Given the description of an element on the screen output the (x, y) to click on. 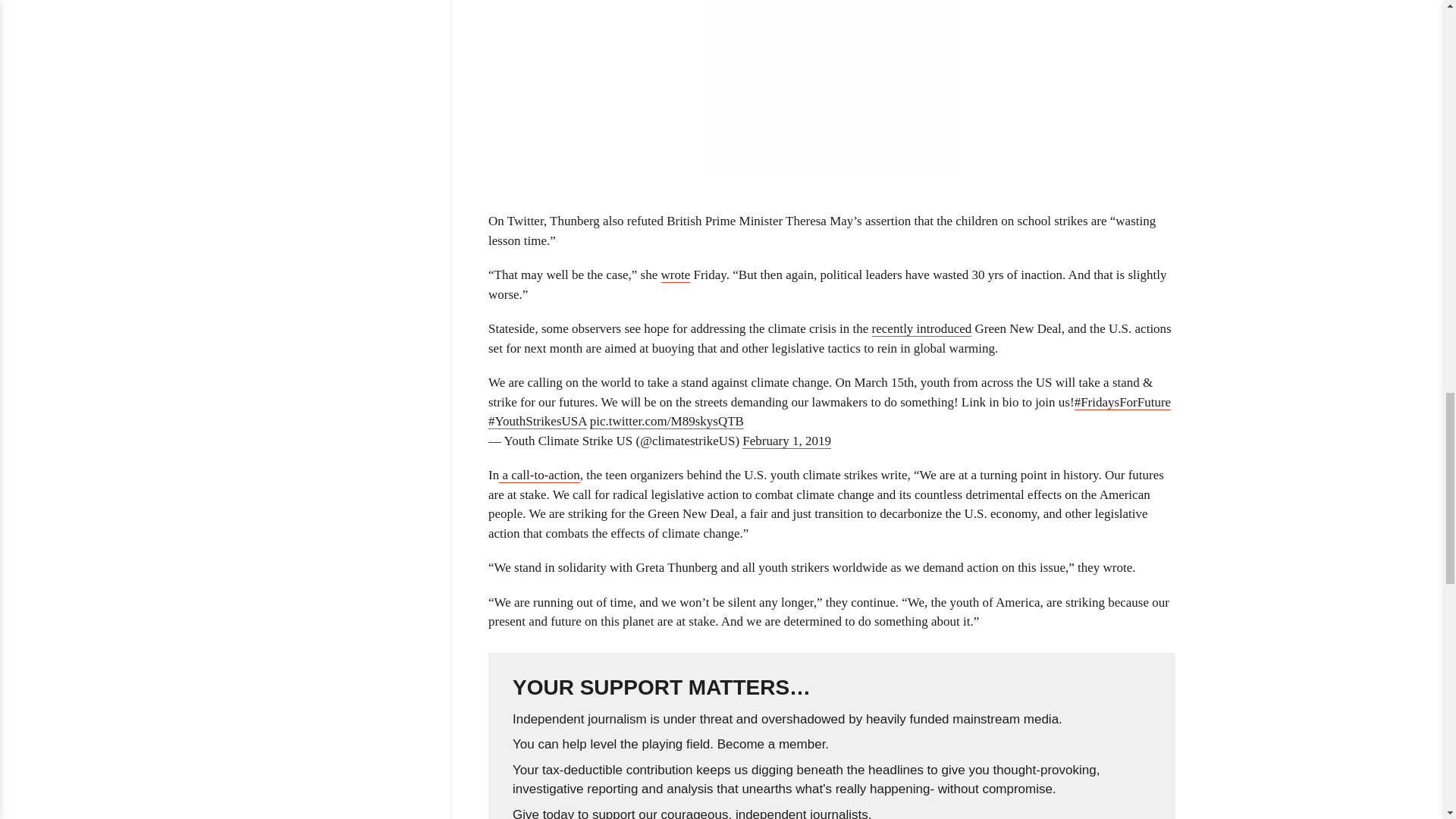
3rd party ad content (831, 89)
